Given the description of an element on the screen output the (x, y) to click on. 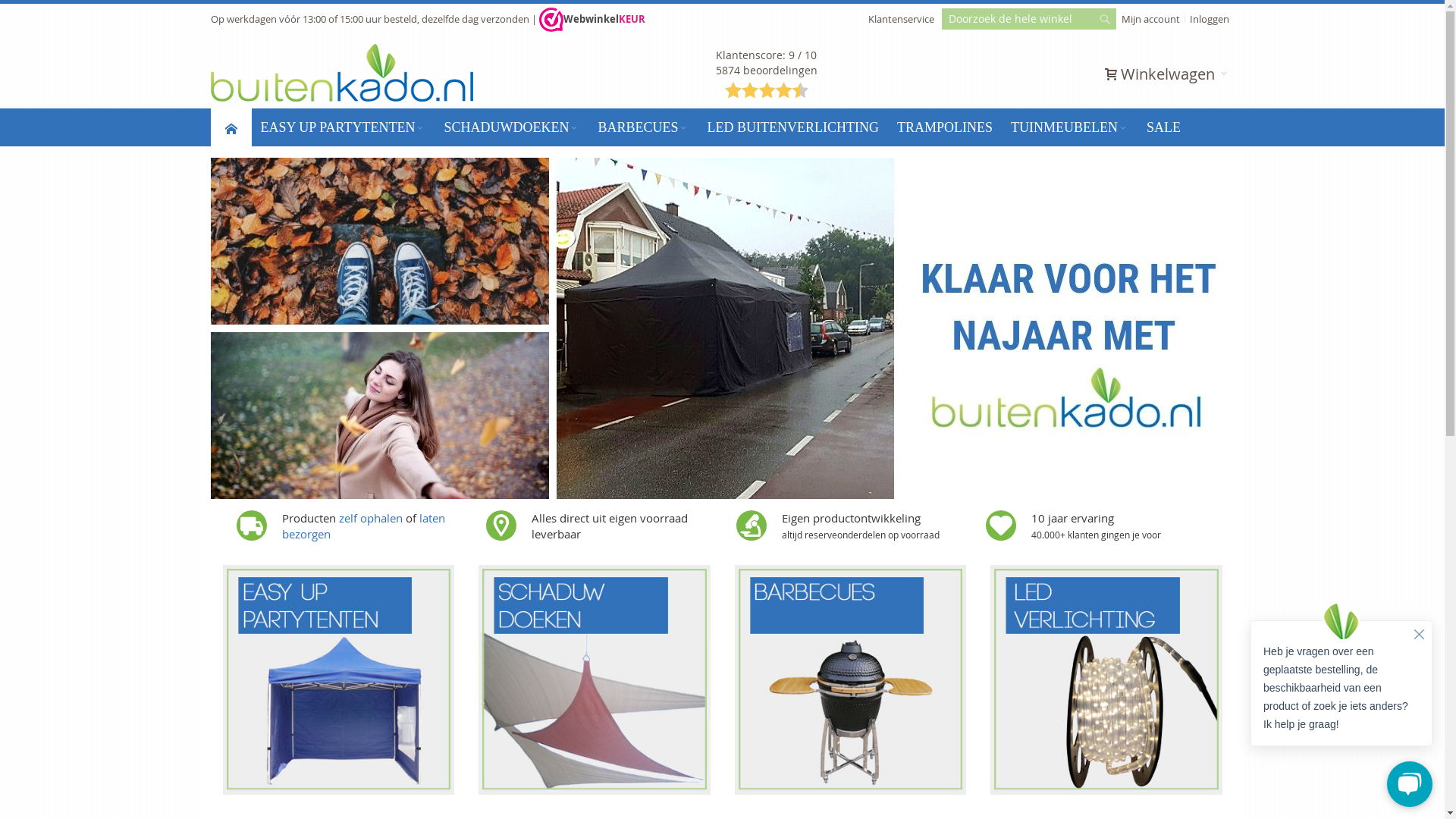
Mijn account Element type: text (1150, 18)
Buitenkado Element type: hover (341, 72)
TRAMPOLINES Element type: text (944, 127)
Keurmerk webwinkel Element type: hover (550, 19)
BARBECUES Element type: text (642, 127)
Inloggen Element type: text (1209, 18)
SCHADUWDOEKEN Element type: text (511, 127)
LED BUITENVERLICHTING Element type: text (792, 127)
WebwinkelKEUR Element type: text (591, 18)
TUINMEUBELEN Element type: text (1069, 127)
EASY UP PARTYTENTEN Element type: text (343, 127)
dezelfde dag verzonden Element type: text (475, 18)
zelf ophalen Element type: text (369, 517)
laten bezorgen Element type: text (363, 525)
Klantenservice Element type: text (900, 18)
Zoek Element type: text (1103, 22)
SALE Element type: text (1163, 127)
Klantenscore: 9 / 10 Element type: text (765, 54)
